Given the description of an element on the screen output the (x, y) to click on. 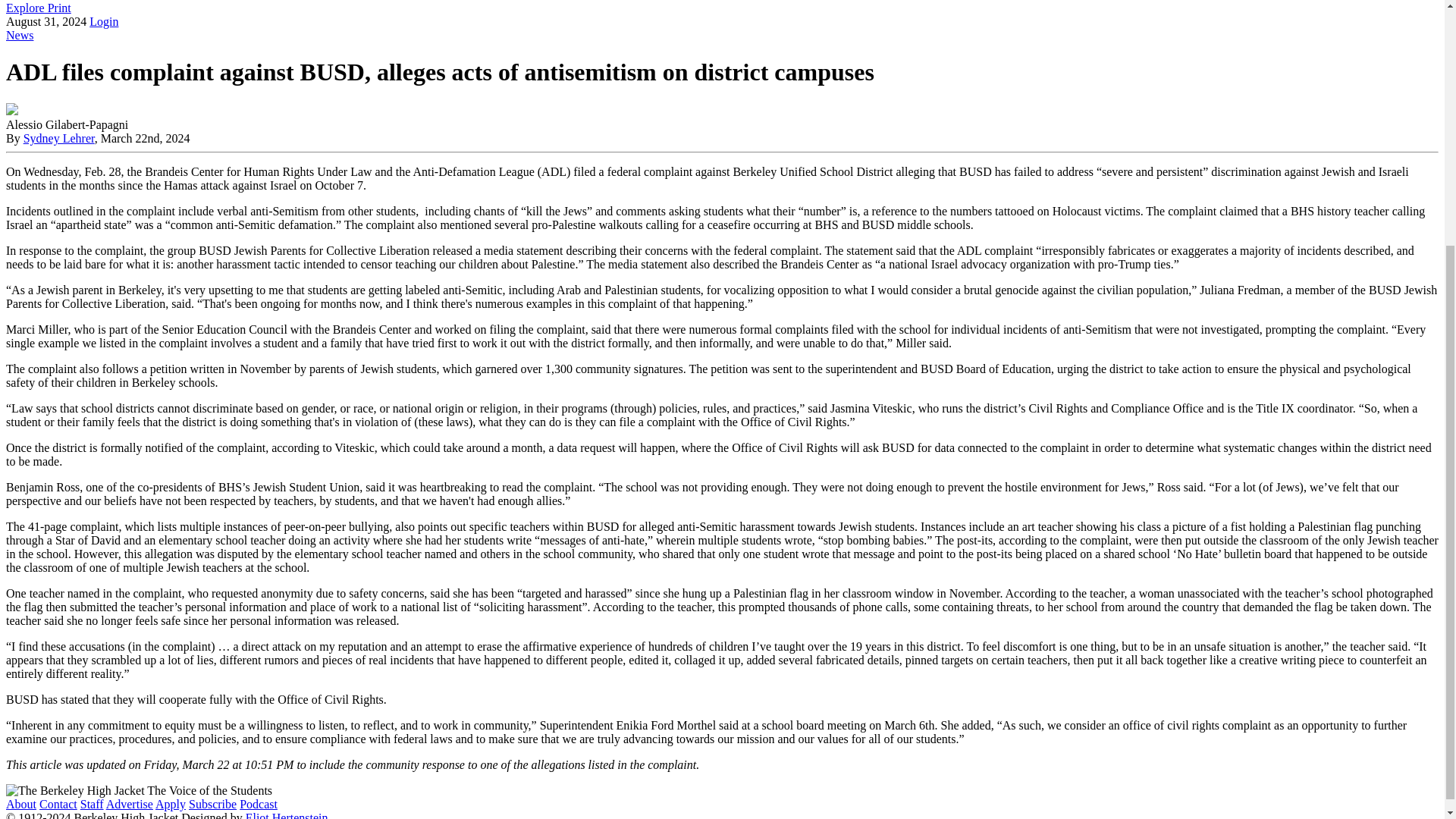
News (19, 34)
Explore Print (38, 7)
About (20, 803)
Contact (58, 803)
Sydney Lehrer (58, 137)
Login (102, 21)
